Given the description of an element on the screen output the (x, y) to click on. 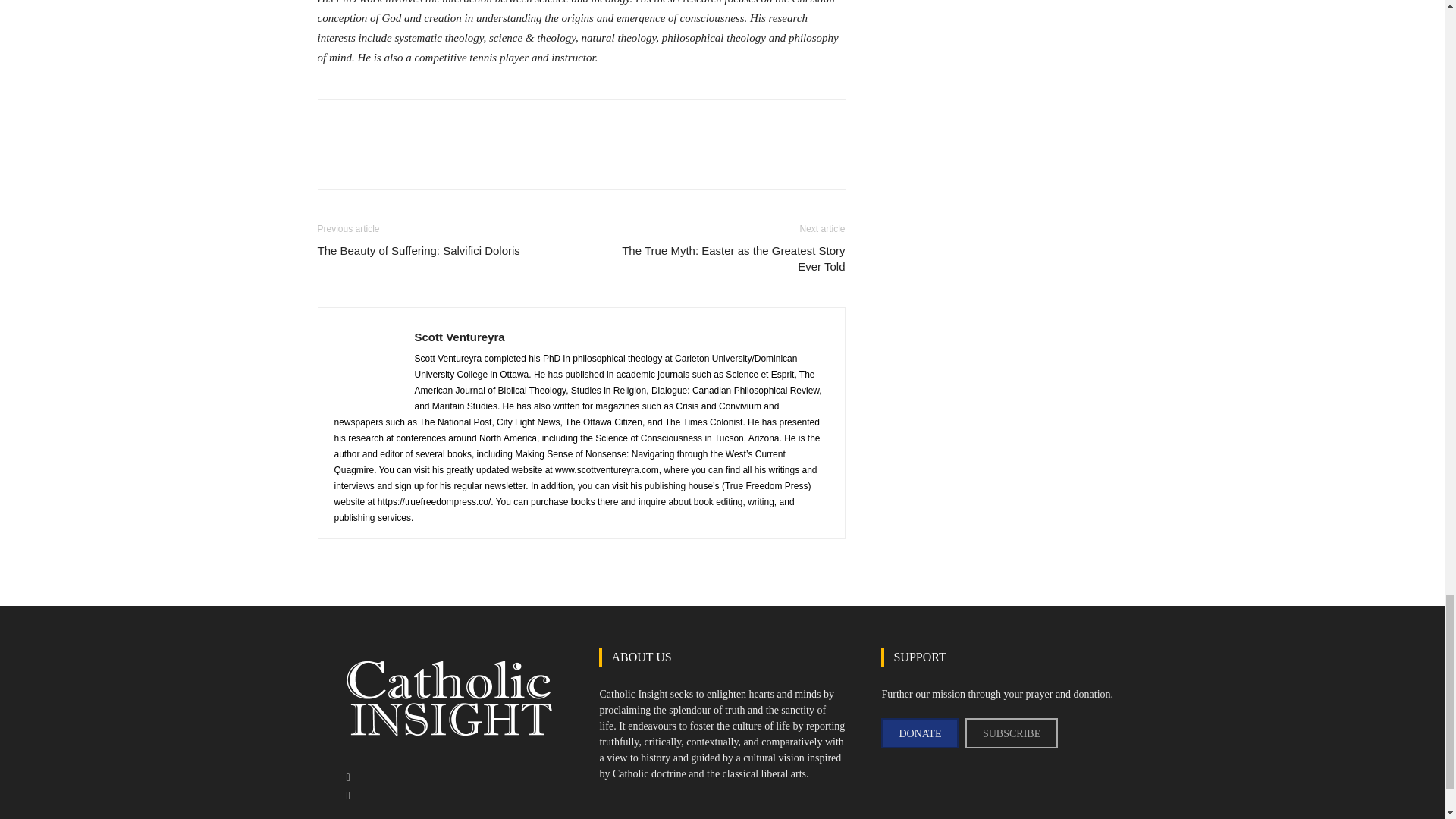
bottomFacebookLike (430, 123)
